Given the description of an element on the screen output the (x, y) to click on. 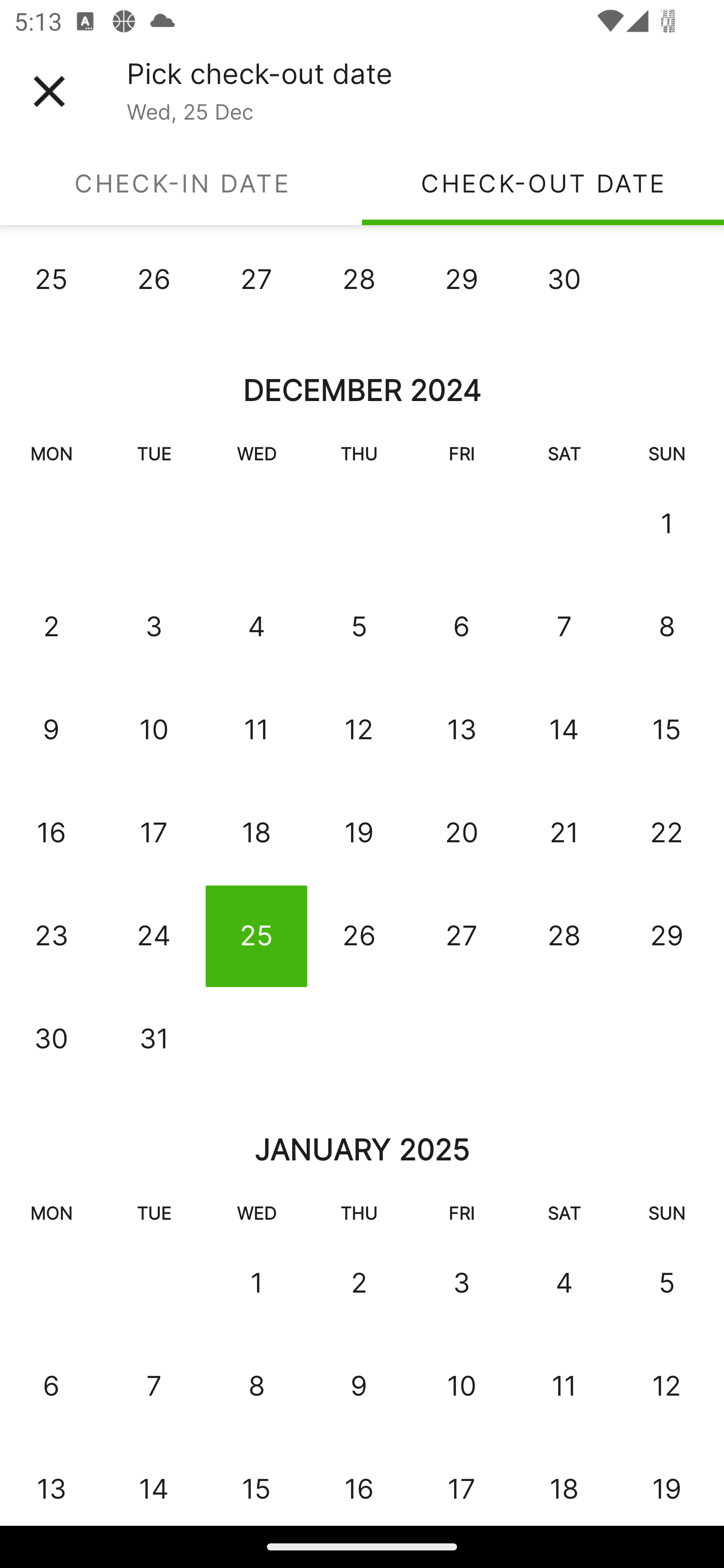
Check-in Date CHECK-IN DATE (181, 183)
